Given the description of an element on the screen output the (x, y) to click on. 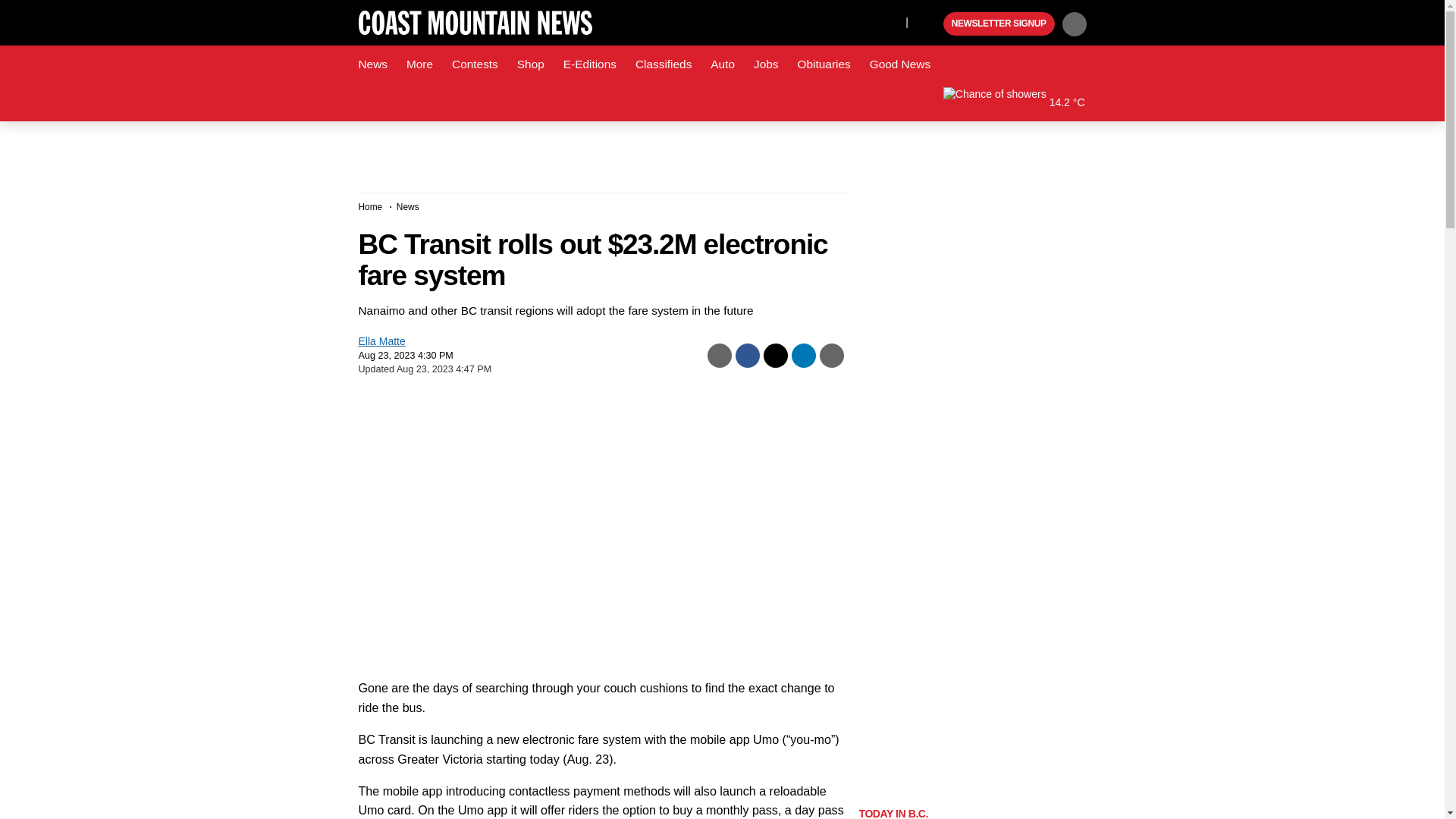
Black Press Media (929, 24)
News (372, 64)
NEWSLETTER SIGNUP (998, 24)
X (889, 21)
Play (929, 24)
